Given the description of an element on the screen output the (x, y) to click on. 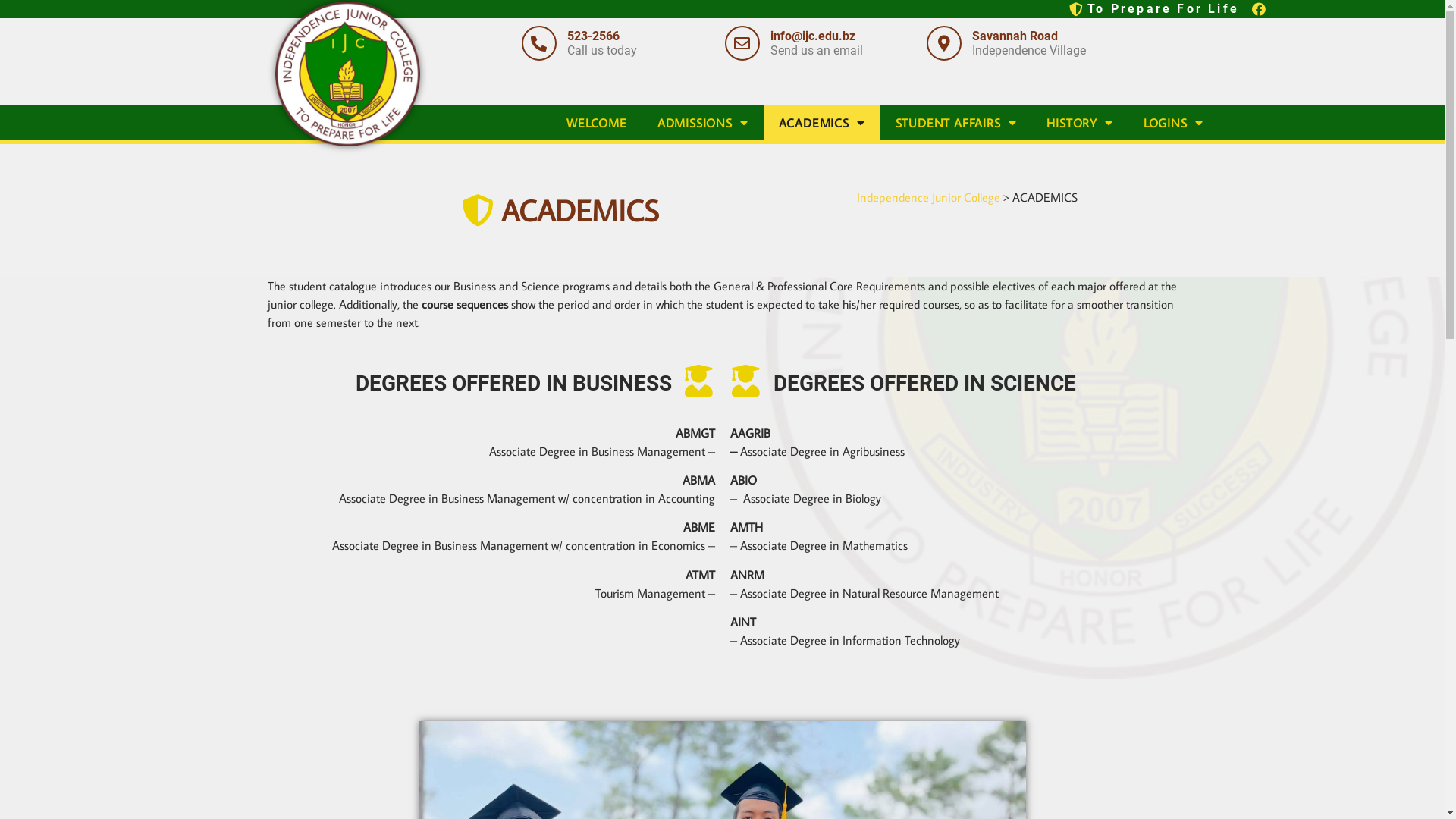
ADMISSIONS Element type: text (702, 122)
STUDENT AFFAIRS Element type: text (956, 122)
info@ijc.edu.bz Element type: text (812, 35)
HISTORY Element type: text (1079, 122)
ACADEMICS Element type: text (821, 122)
LOGINS Element type: text (1173, 122)
Independence Junior College Element type: text (928, 196)
WELCOME Element type: text (596, 122)
523-2566 Element type: text (593, 35)
